Given the description of an element on the screen output the (x, y) to click on. 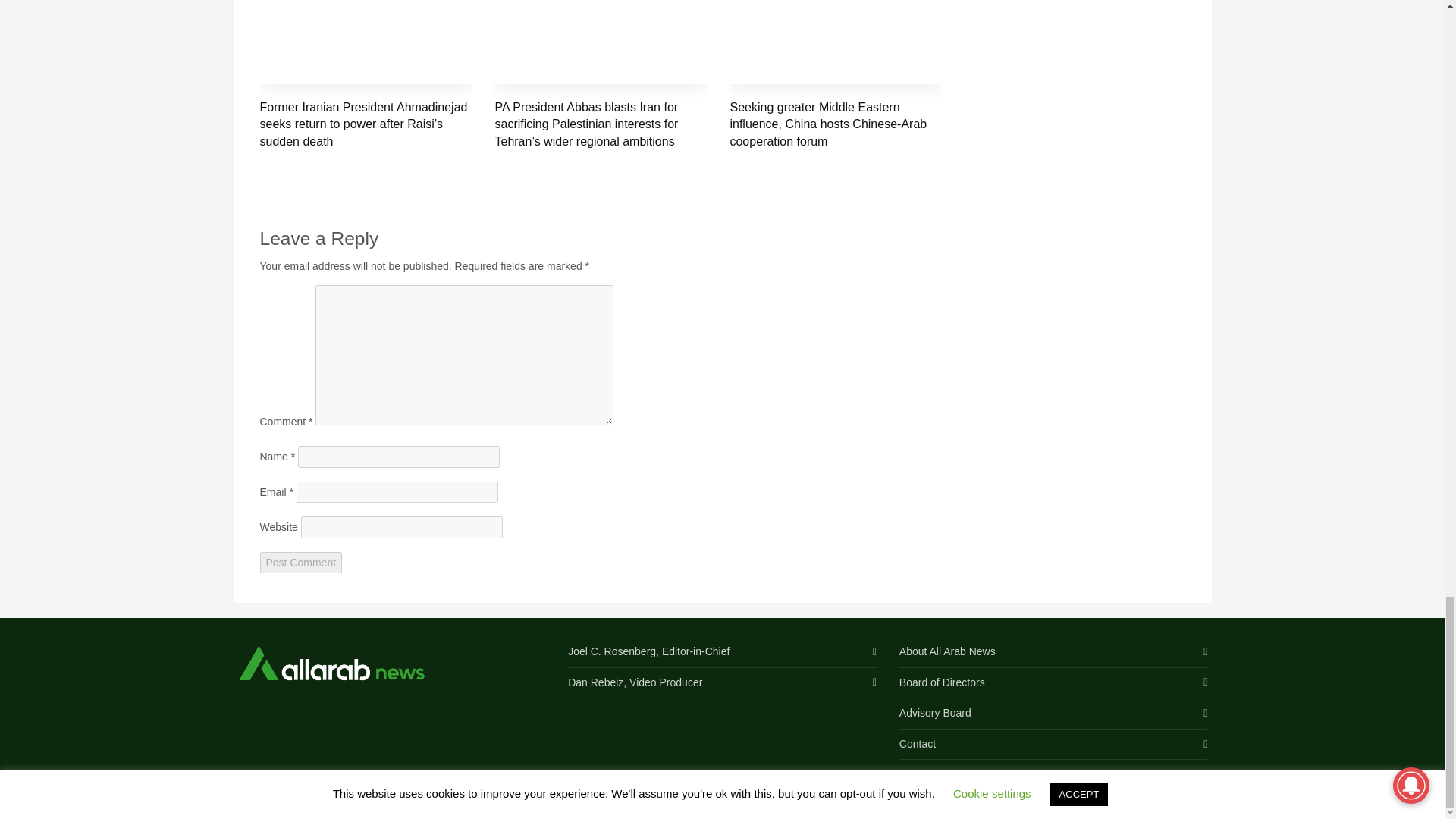
Post Comment (300, 562)
